Given the description of an element on the screen output the (x, y) to click on. 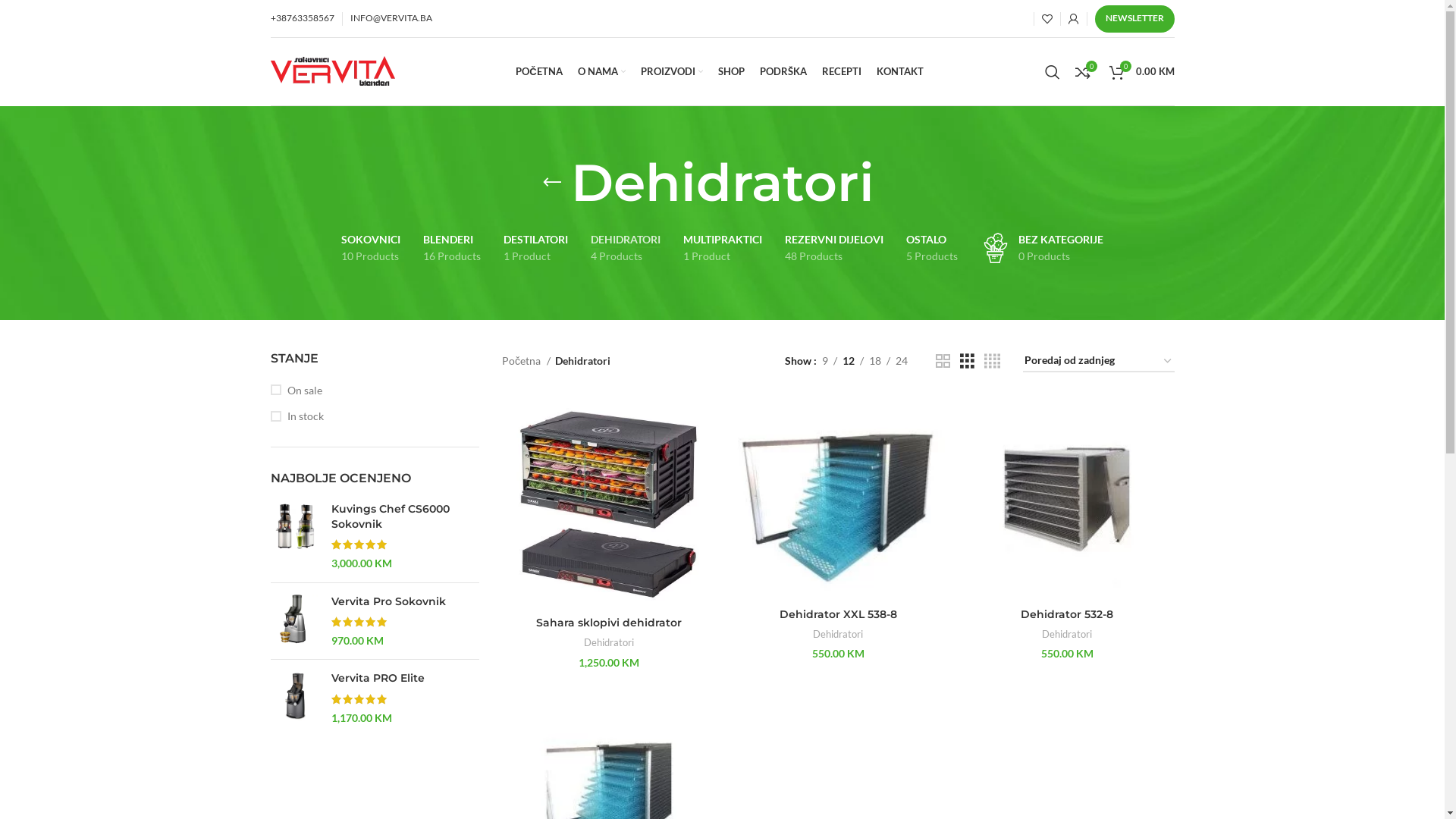
KONTAKT Element type: text (899, 71)
Dehidratori Element type: text (608, 642)
9 Element type: text (824, 360)
NEWSLETTER Element type: text (1134, 17)
O NAMA Element type: text (601, 71)
Vervita Pro Sokovnik Element type: hover (294, 621)
0 Element type: text (1082, 71)
REZERVNI DIJELOVI
48 Products Element type: text (833, 248)
DESTILATORI
1 Product Element type: text (535, 248)
Kuvings Chef CS6000 Sokovnik Element type: text (404, 516)
Vervita PRO Elite Element type: hover (294, 697)
Search Element type: hover (1052, 71)
0
0.00 KM Element type: text (1141, 71)
SHOP Element type: text (731, 71)
INFO@VERVITA.BA Element type: text (391, 18)
Dehidrator XXL 538-8 Element type: text (838, 614)
Vervita PRO Elite Element type: text (404, 678)
BLENDERI
16 Products Element type: text (451, 248)
Dehidratori Element type: text (1066, 634)
Dehidrator 532-8 Element type: text (1066, 614)
My Wishlist Element type: hover (1047, 18)
In stock Element type: text (374, 415)
+38763358567 Element type: text (301, 18)
BEZ KATEGORIJE
0 Products Element type: text (1041, 248)
RECEPTI Element type: text (841, 71)
OSTALO
5 Products Element type: text (931, 248)
cat-flower Element type: hover (995, 247)
Sahara sklopivi dehidrator Element type: text (608, 622)
Vervita Pro Sokovnik Element type: text (404, 601)
Kuvings Chef CS6000 Sokovnik Element type: hover (294, 536)
On sale Element type: text (374, 390)
12 Element type: text (848, 360)
My account Element type: hover (1072, 18)
24 Element type: text (901, 360)
MULTIPRAKTICI
1 Product Element type: text (722, 248)
DEHIDRATORI
4 Products Element type: text (625, 248)
SOKOVNICI
10 Products Element type: text (370, 248)
PROIZVODI Element type: text (671, 71)
18 Element type: text (874, 360)
Dehidratori Element type: text (837, 634)
